Given the description of an element on the screen output the (x, y) to click on. 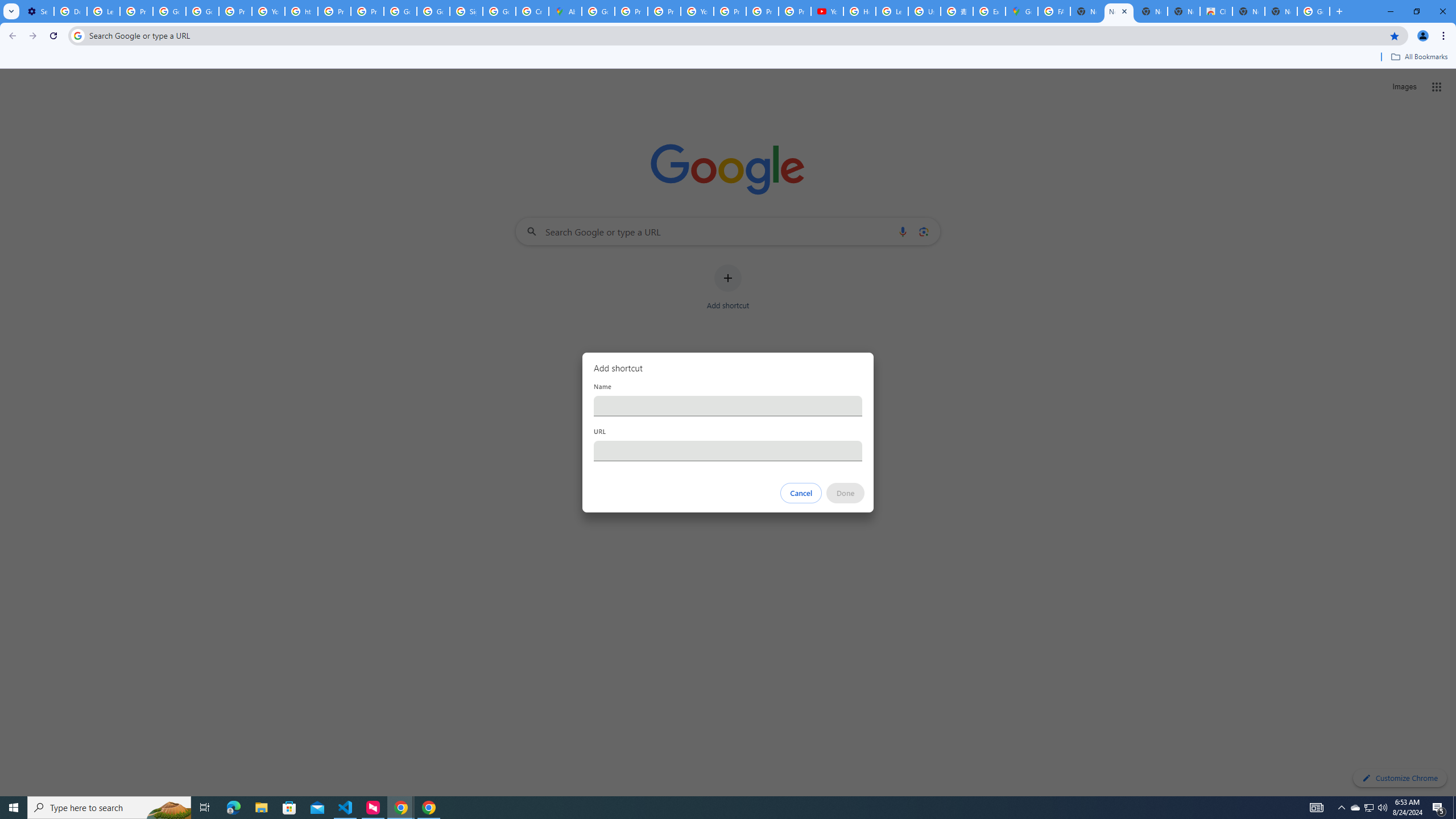
New Tab (1281, 11)
YouTube (827, 11)
